Given the description of an element on the screen output the (x, y) to click on. 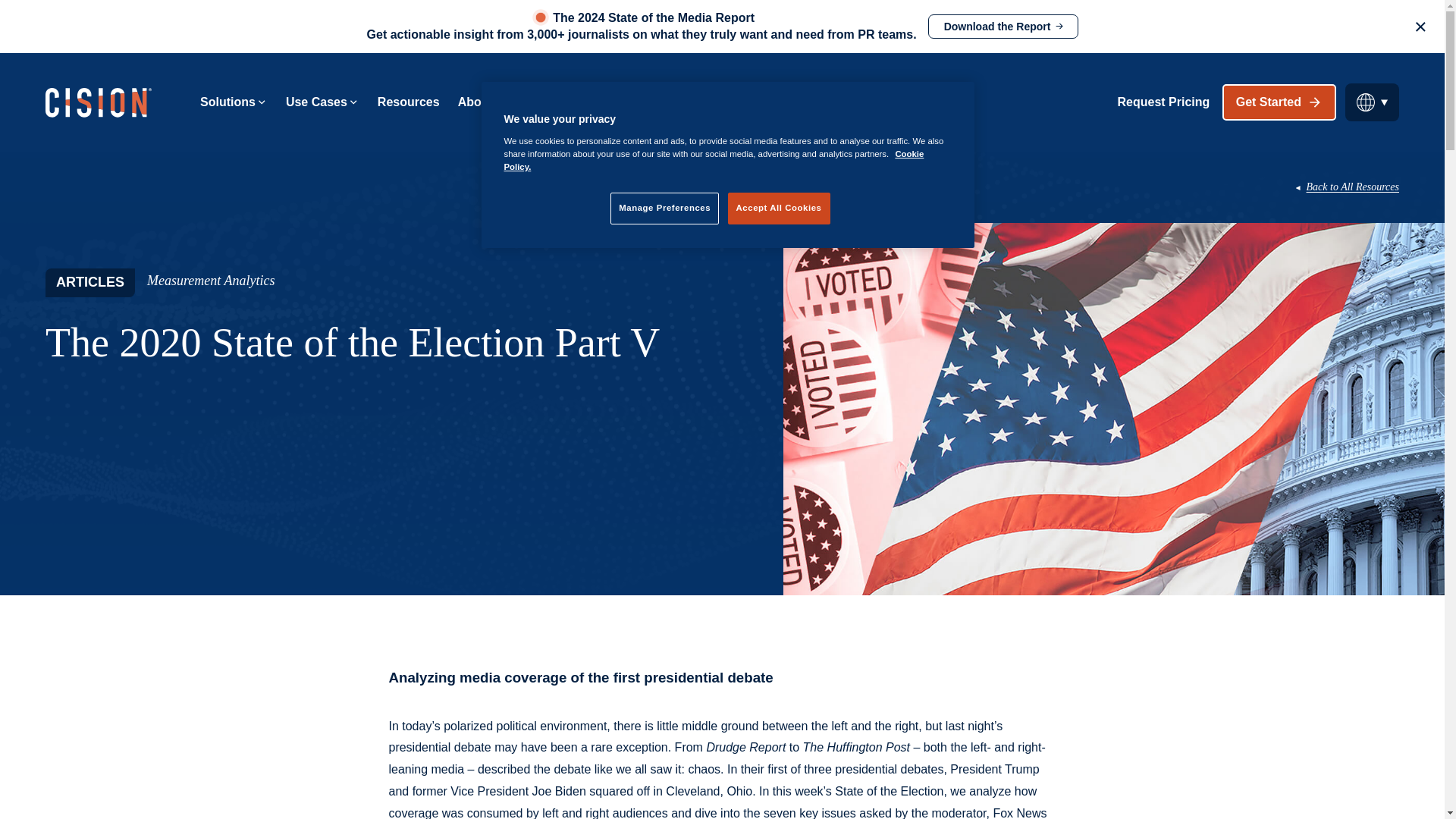
Download the Report (1003, 26)
Use Cases (322, 102)
About Us (491, 102)
Resources (408, 102)
Solutions (233, 102)
